Given the description of an element on the screen output the (x, y) to click on. 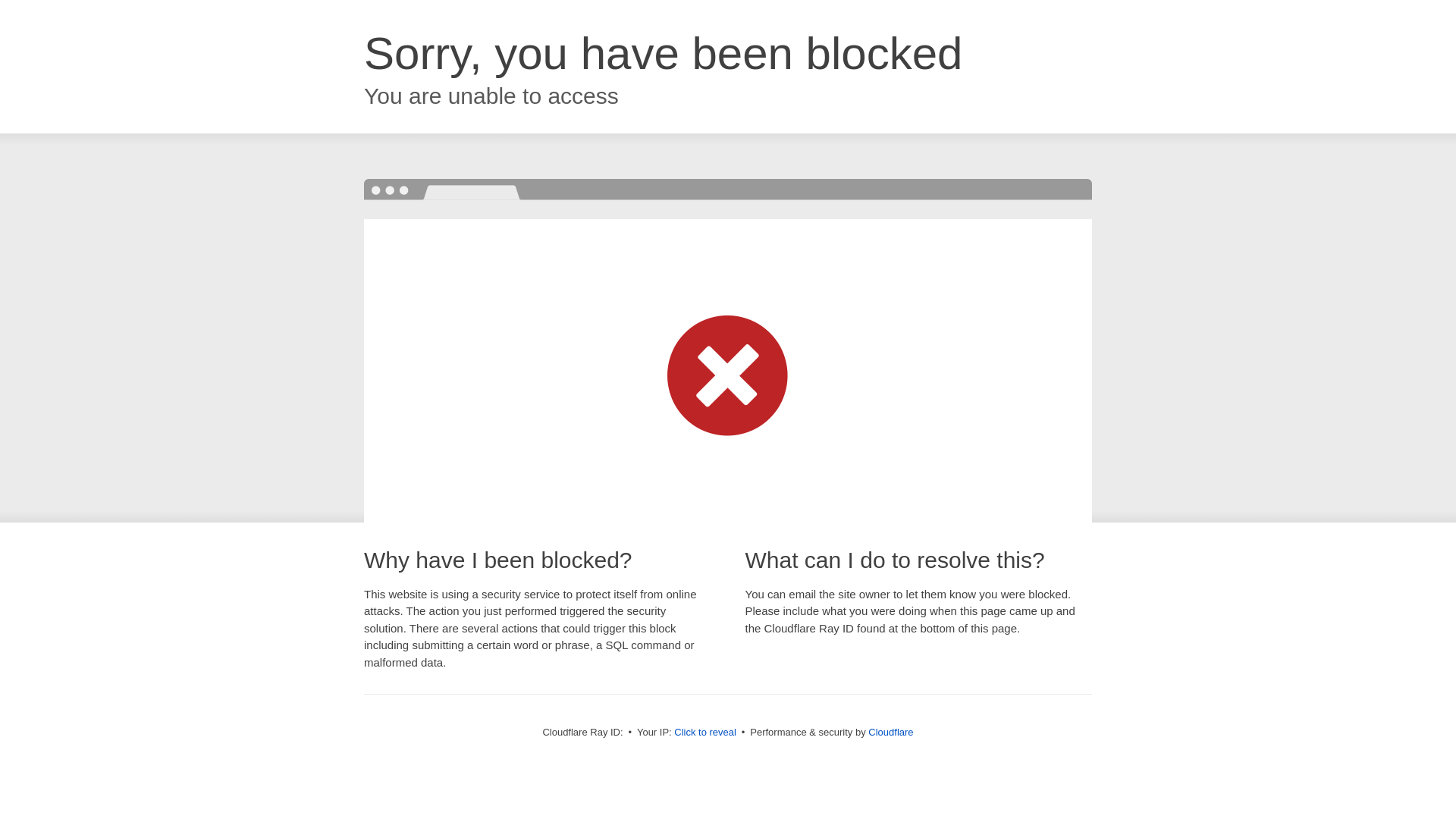
Click to reveal Element type: text (705, 732)
Cloudflare Element type: text (890, 731)
